Given the description of an element on the screen output the (x, y) to click on. 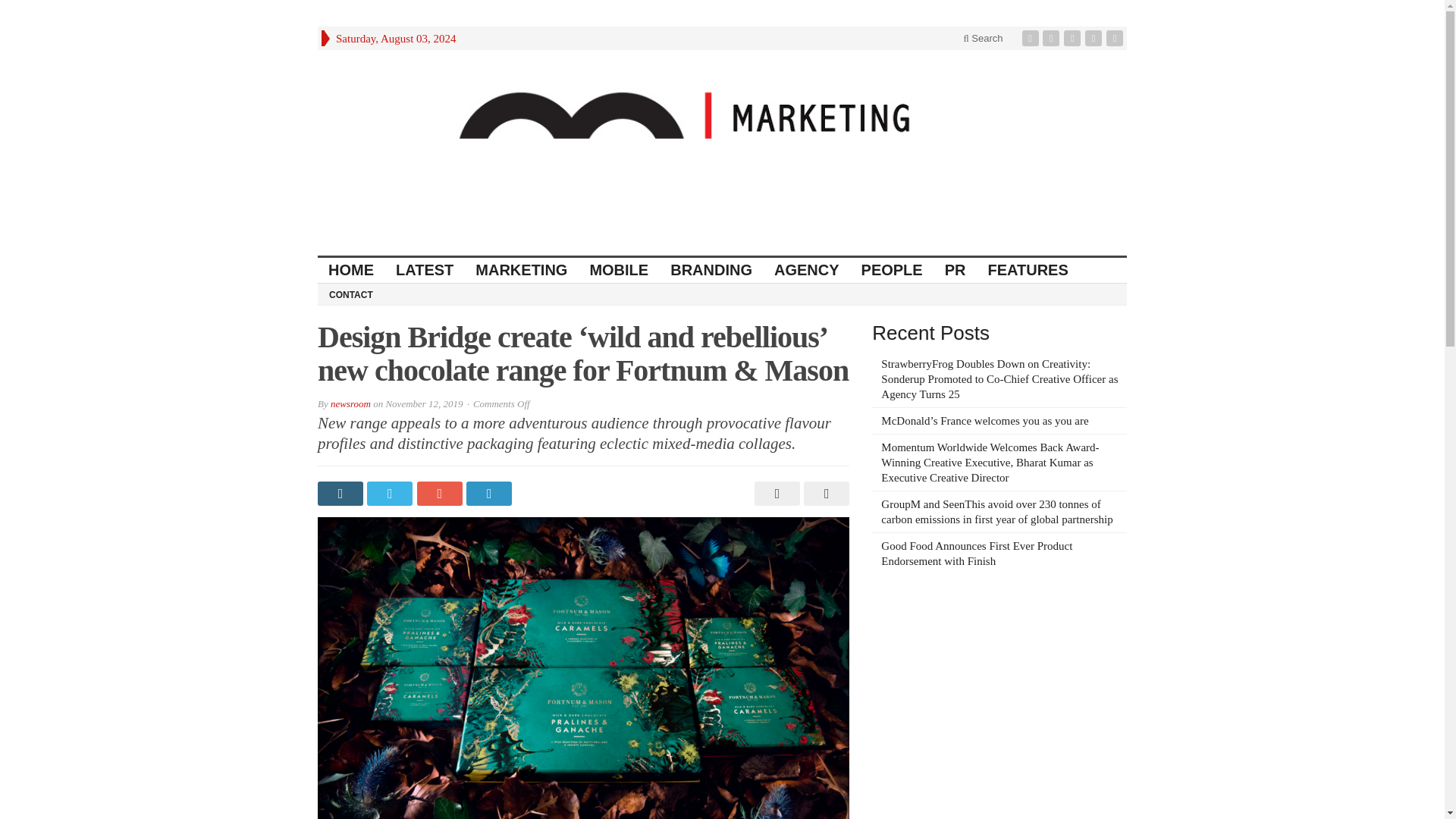
Youtube (1094, 37)
Share on LinkedIn (490, 493)
AGENCY (806, 269)
newsroom (350, 403)
Site feed (1115, 37)
LinkedIn (1073, 37)
Twitter (1052, 37)
LATEST (424, 269)
Share on Facebook (341, 493)
CONTACT (350, 293)
Print This Post (775, 493)
FEATURES (1027, 269)
BRANDING (710, 269)
Facebook (1032, 37)
